Given the description of an element on the screen output the (x, y) to click on. 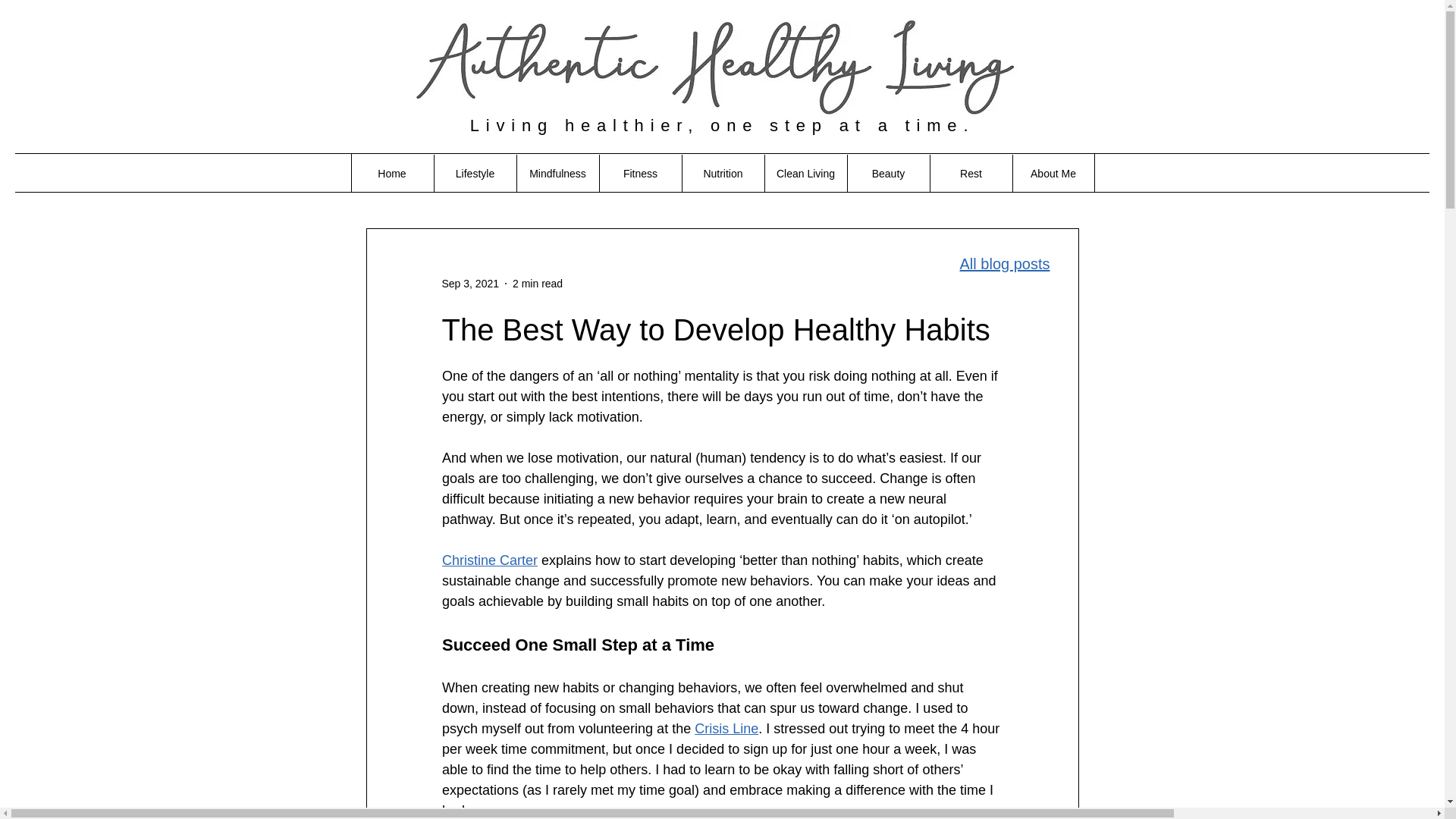
Clean Living (805, 173)
Rest (970, 173)
Beauty (886, 173)
All blog posts (1004, 263)
Mindfulness (556, 173)
Home (391, 173)
About Me (1052, 173)
Sep 3, 2021 (470, 283)
2 min read (537, 283)
Crisis Line (726, 728)
